Given the description of an element on the screen output the (x, y) to click on. 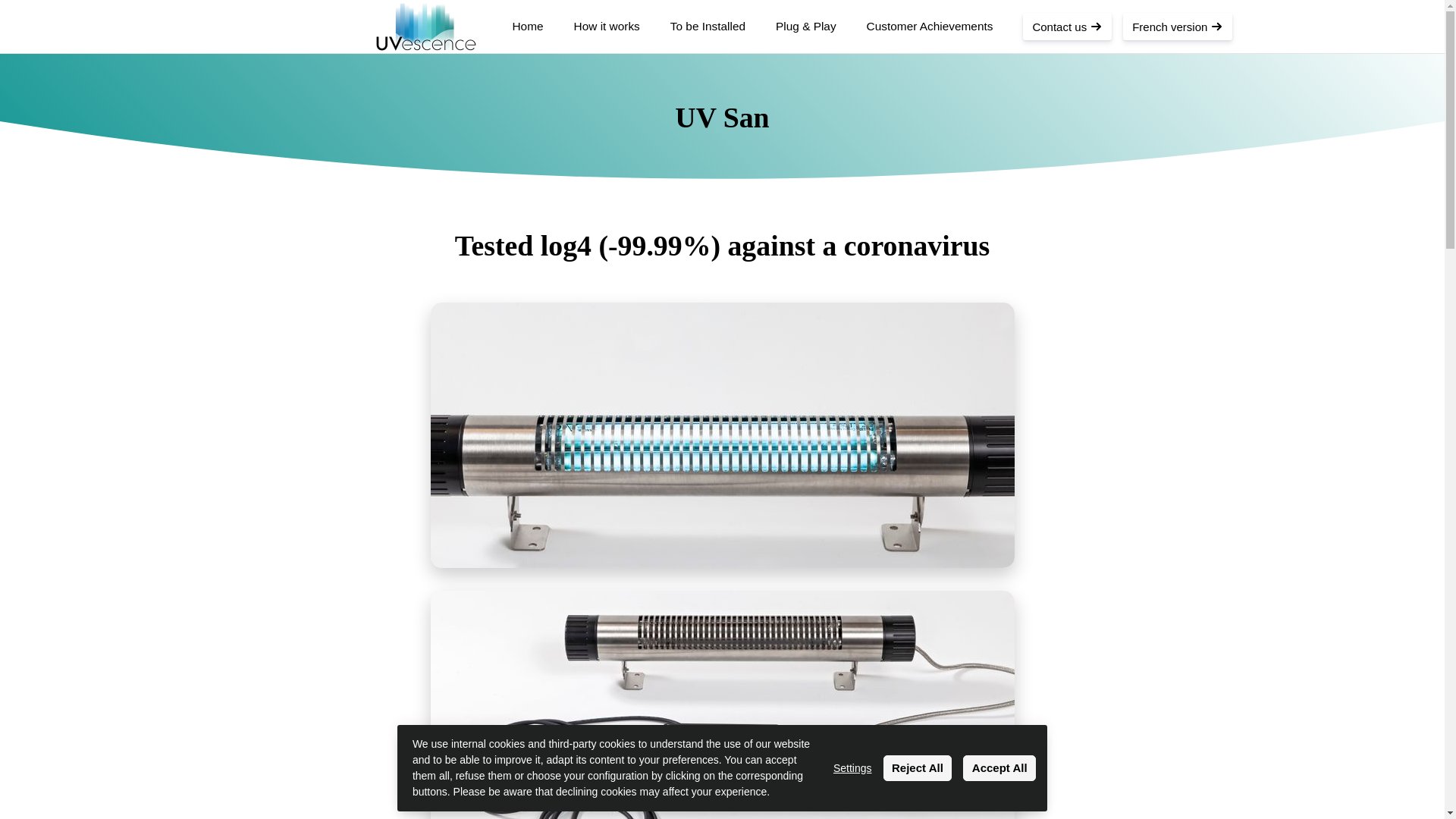
Customer Achievements (930, 36)
Accept All (998, 768)
Contact us (1067, 26)
Settings (852, 767)
How it works (607, 36)
To be Installed (707, 36)
Reject All (917, 768)
French version (1176, 26)
